Given the description of an element on the screen output the (x, y) to click on. 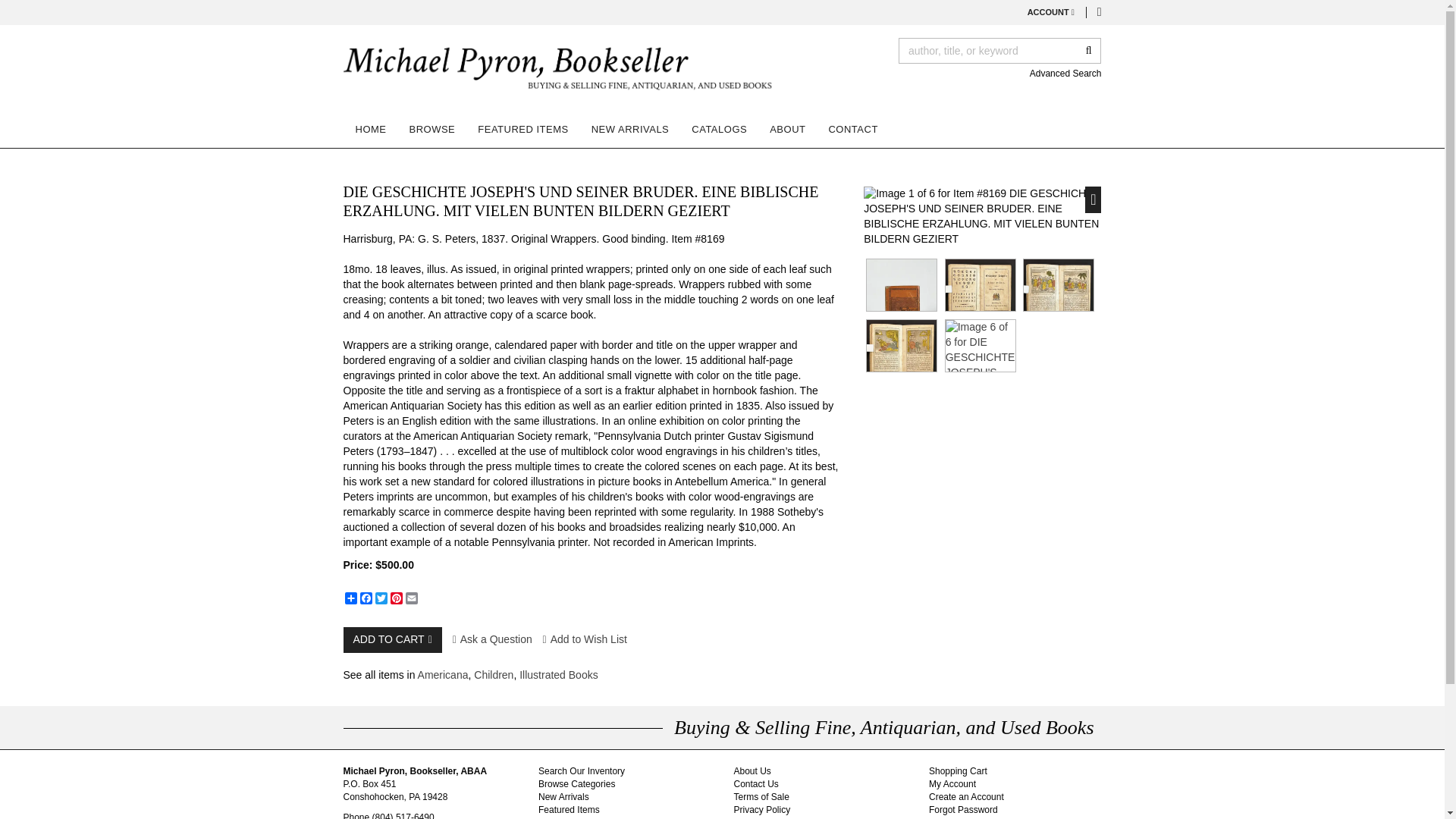
Twitter (380, 598)
Share (350, 598)
HOME (370, 128)
NEW ARRIVALS (630, 128)
ADD TO CART (391, 639)
Michael Pyron, Bookseller, ABAA (559, 71)
FEATURED ITEMS (522, 128)
BROWSE (431, 128)
ACCOUNT (1050, 12)
Skip to main content (8, 7)
Advanced Search (1065, 72)
Facebook (365, 598)
